Given the description of an element on the screen output the (x, y) to click on. 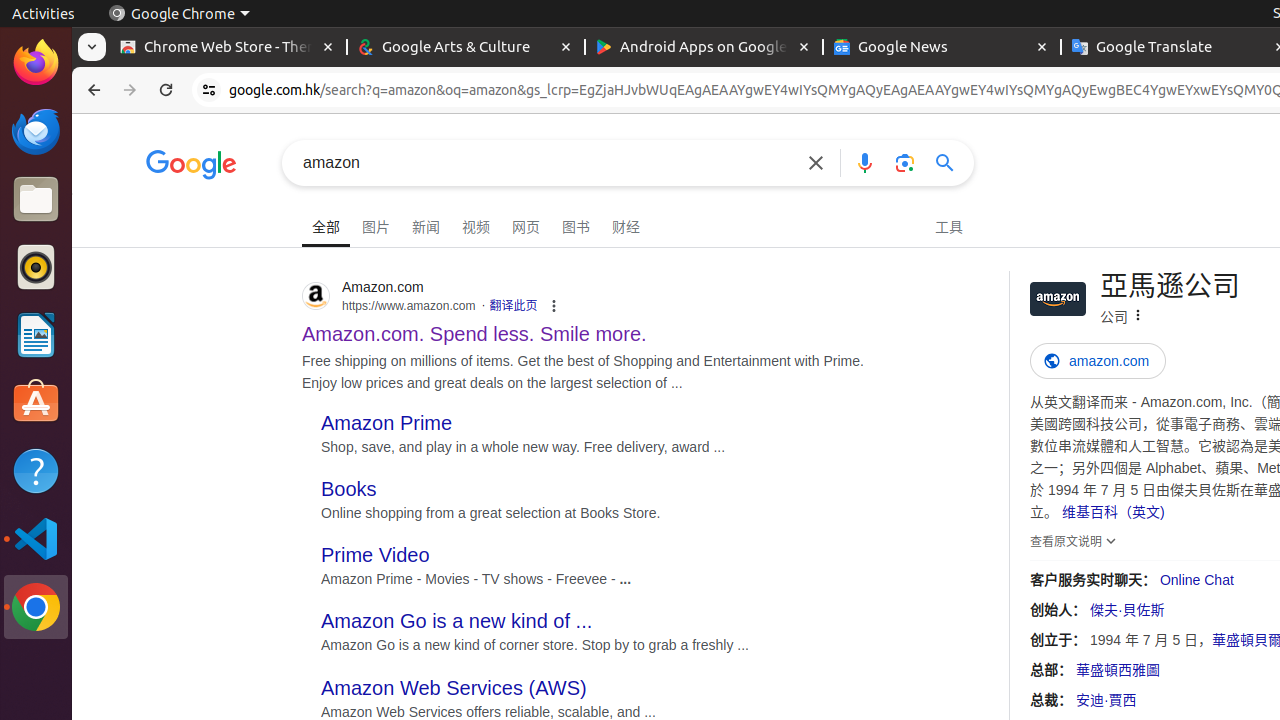
按图搜索 Element type: push-button (905, 162)
華盛頓西雅圖 Element type: link (1117, 670)
Google 首页 Element type: link (192, 166)
Online Chat Element type: link (1196, 580)
搜索 Element type: combo-box (547, 162)
